Given the description of an element on the screen output the (x, y) to click on. 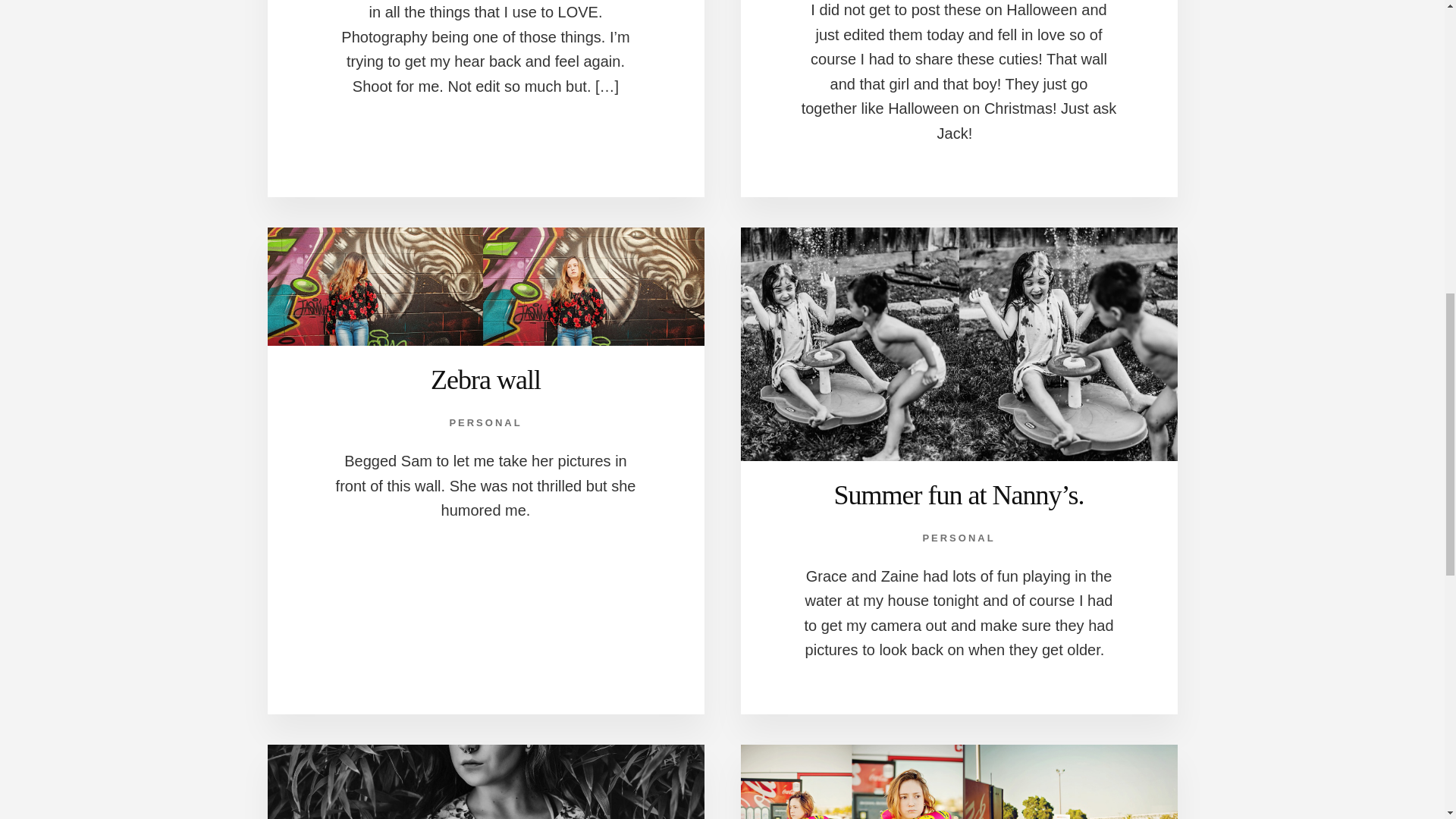
PERSONAL (957, 537)
PERSONAL (484, 422)
Zebra wall (485, 379)
